Given the description of an element on the screen output the (x, y) to click on. 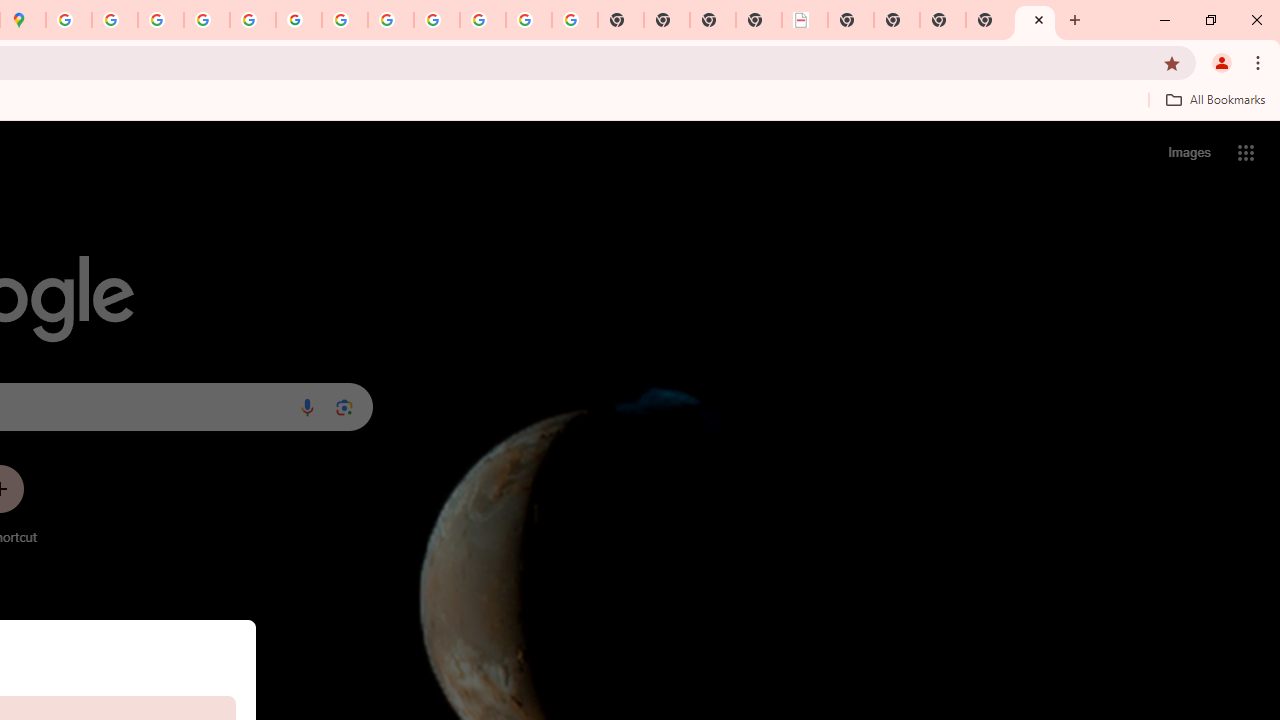
Privacy Help Center - Policies Help (207, 20)
LAAD Defence & Security 2025 | BAE Systems (805, 20)
YouTube (345, 20)
New Tab (1035, 20)
Privacy Help Center - Policies Help (161, 20)
